Given the description of an element on the screen output the (x, y) to click on. 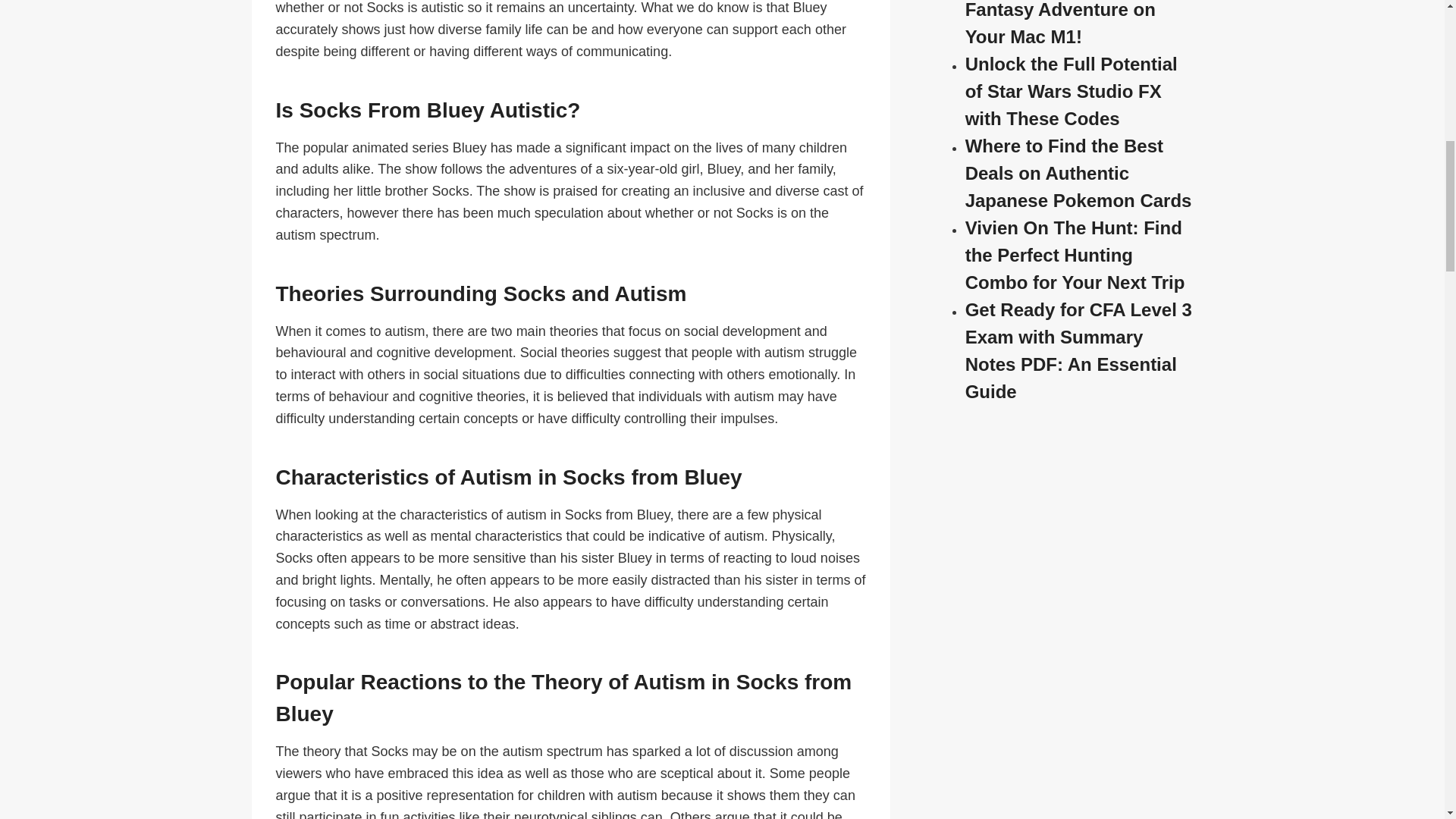
Elden Ring: Play the Epic Fantasy Adventure on Your Mac M1! (1075, 23)
